Given the description of an element on the screen output the (x, y) to click on. 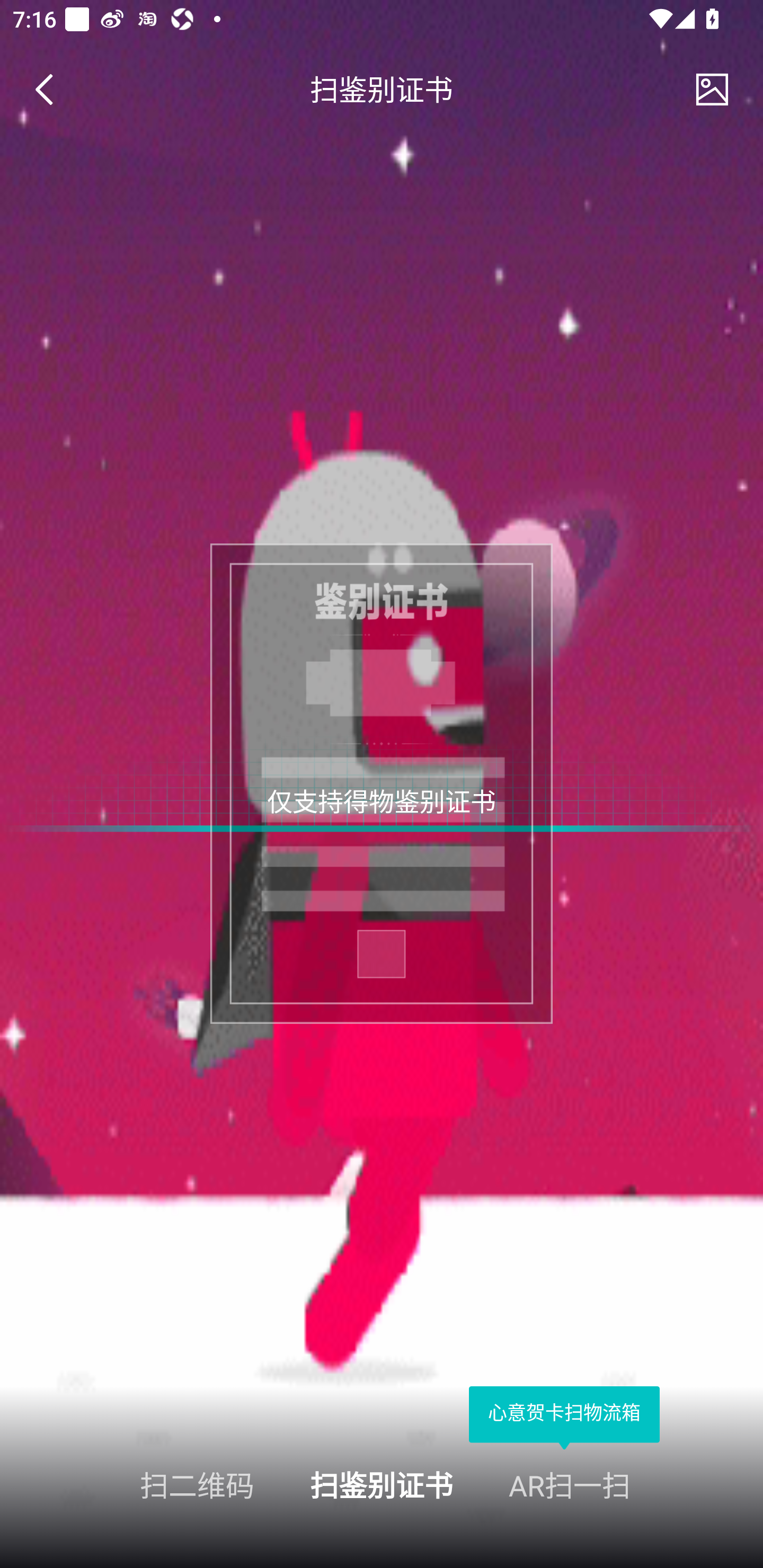
 (51, 89)
 (711, 89)
扫二维码 (127, 1484)
扫鉴别证书 (381, 1484)
AR扫一扫 (635, 1484)
